Given the description of an element on the screen output the (x, y) to click on. 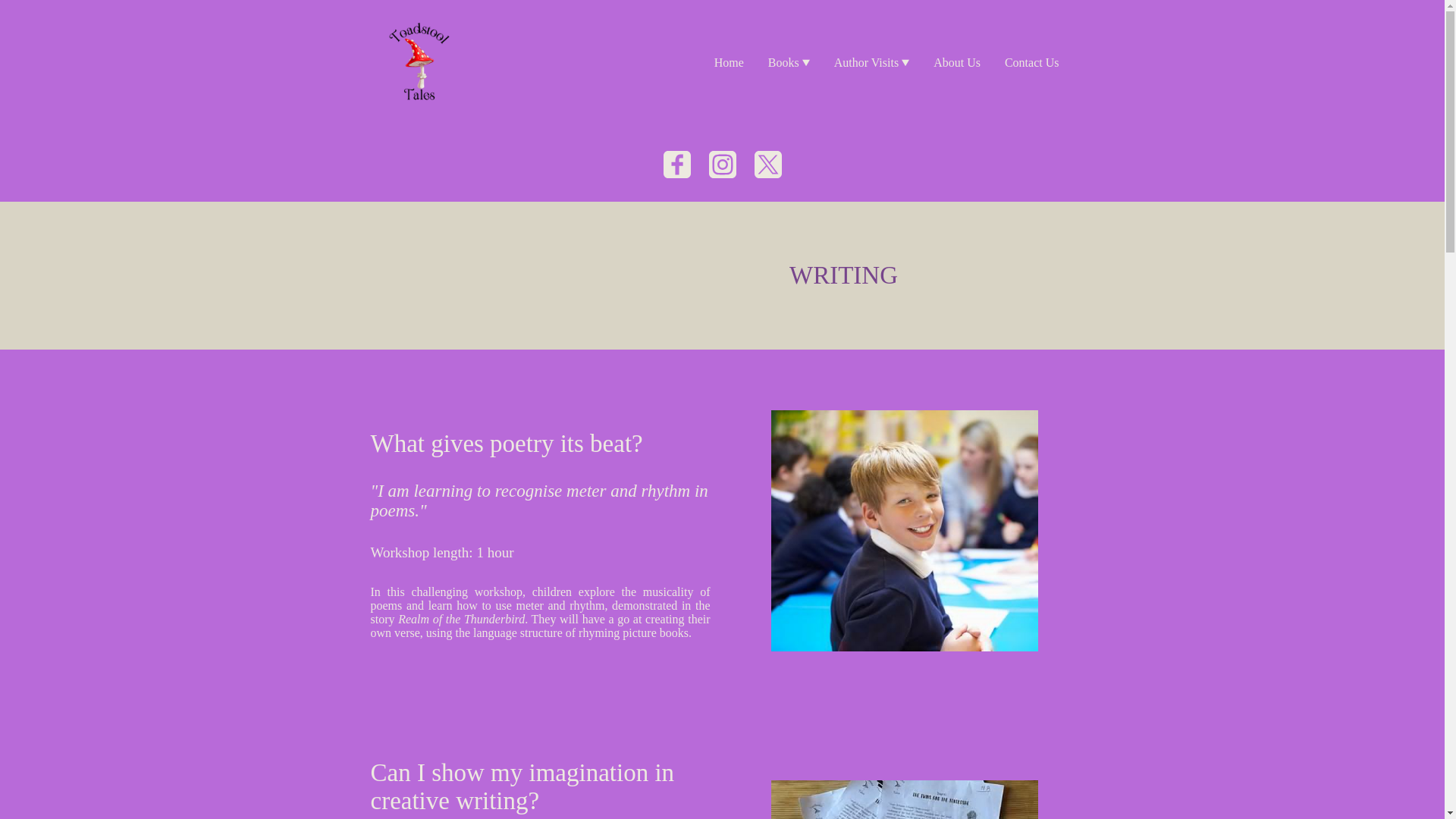
Contact Us (1032, 62)
Author Visits (872, 62)
Books (788, 62)
Home (728, 62)
About Us (957, 62)
